Given the description of an element on the screen output the (x, y) to click on. 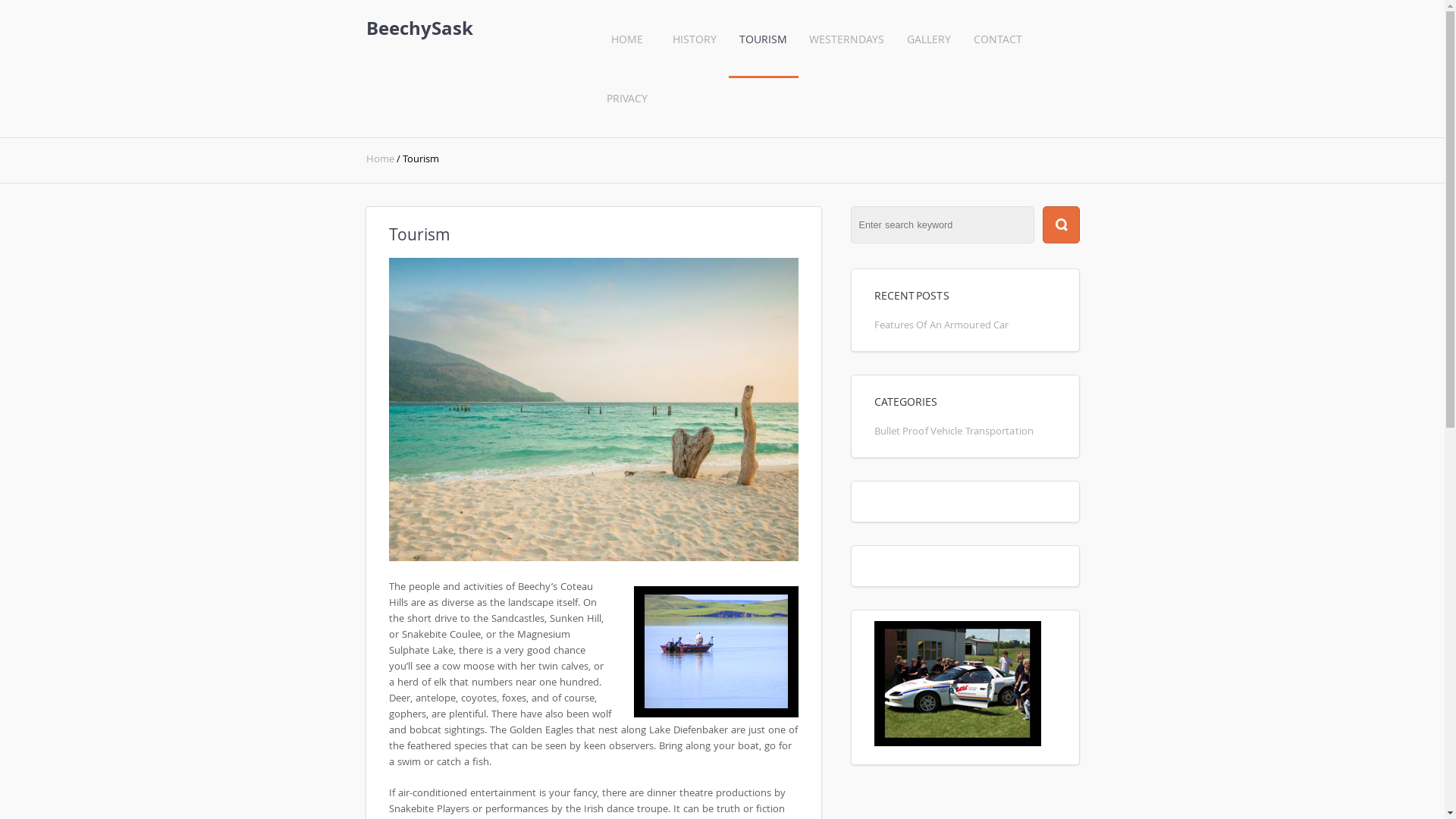
Tourism Element type: hover (592, 556)
Home Element type: text (380, 158)
HISTORY Element type: text (694, 48)
HOME Element type: text (626, 48)
CONTACT Element type: text (998, 48)
WESTERNDAYS Element type: text (845, 48)
TOURISM Element type: text (762, 48)
GALLERY Element type: text (928, 48)
Features Of An Armoured Car Element type: text (940, 324)
BeechySask Element type: text (418, 27)
PRIVACY Element type: text (626, 107)
Bullet Proof Vehicle Transportation Element type: text (952, 430)
